Given the description of an element on the screen output the (x, y) to click on. 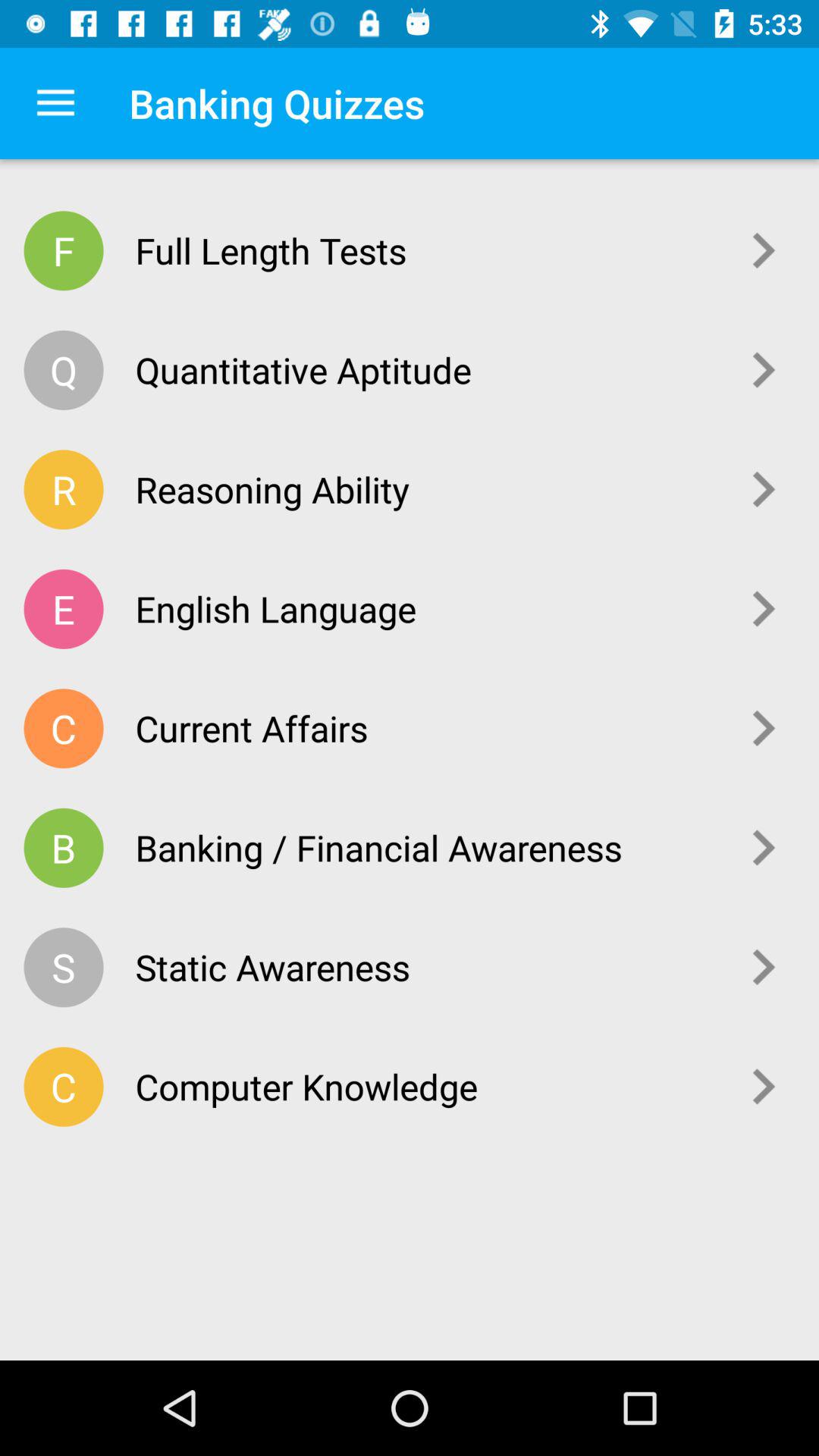
select the icon next to the computer knowledge item (763, 1086)
